Given the description of an element on the screen output the (x, y) to click on. 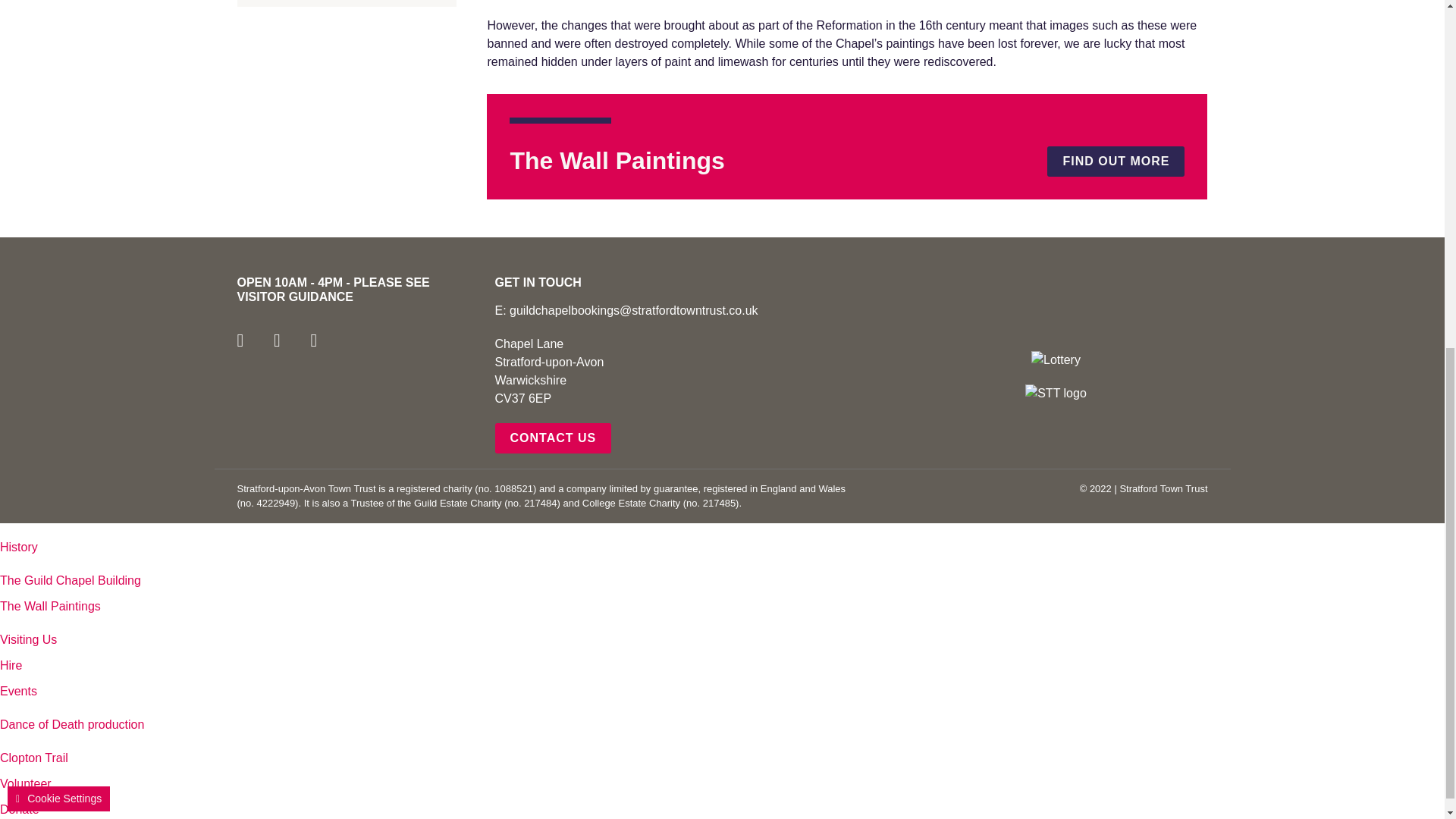
Dance of Death production (72, 724)
Clopton Trail (34, 757)
The Wall Paintings (346, 3)
Donate (19, 809)
Cookie preference options (58, 186)
The Wall Paintings (50, 605)
Hire (10, 665)
FIND OUT MORE (1115, 160)
Visit us on Facebook (252, 343)
Visit us on Twitter (290, 343)
The Guild Chapel Building (70, 580)
Cookie Settings (58, 186)
Volunteer (25, 783)
Visit us on Instagram (326, 343)
Events (18, 690)
